Given the description of an element on the screen output the (x, y) to click on. 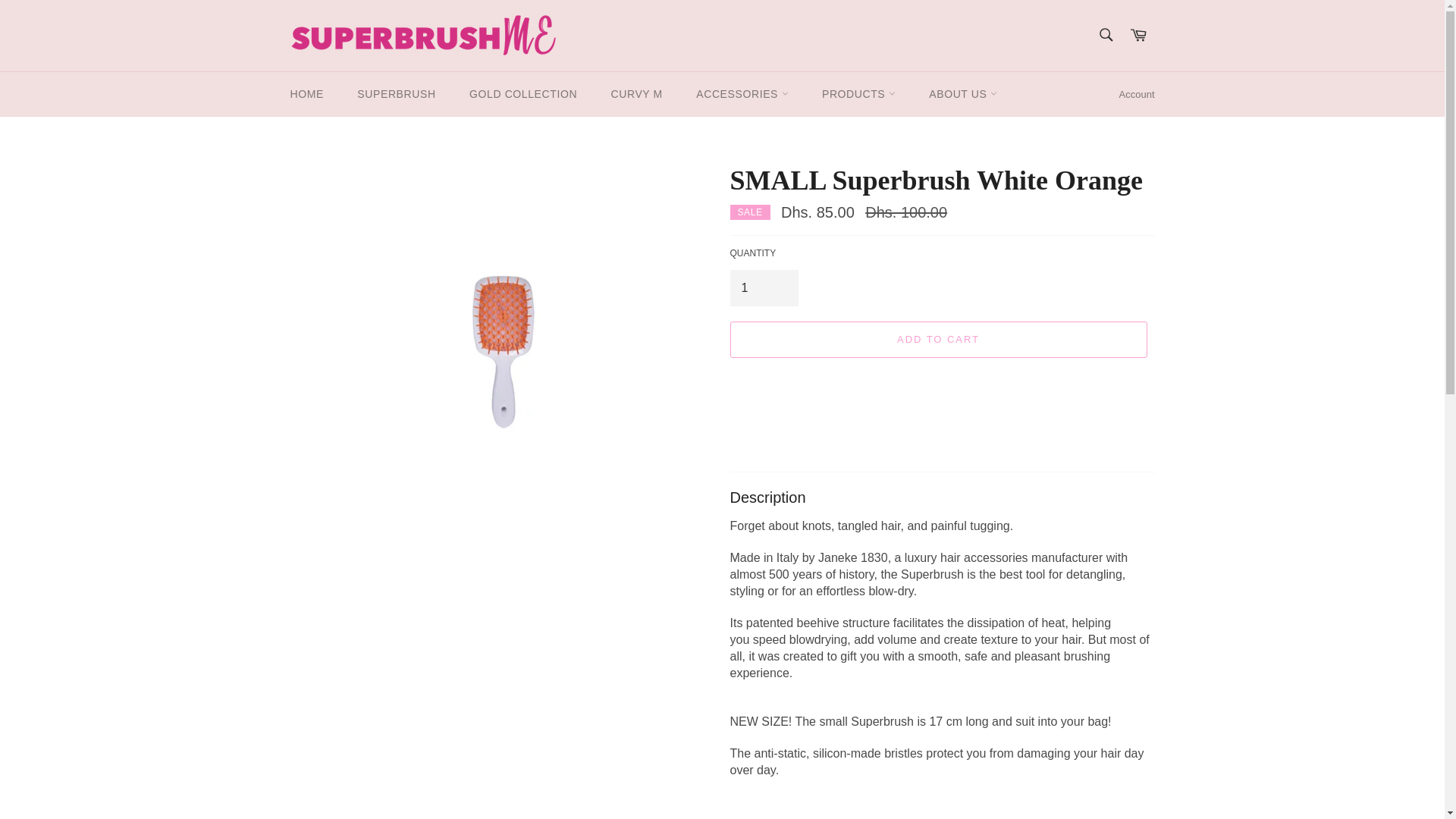
Cart (1138, 35)
GOLD COLLECTION (523, 94)
Search (1104, 33)
CURVY M (636, 94)
SUPERBRUSH (395, 94)
ACCESSORIES (742, 94)
1 (763, 288)
HOME (306, 94)
